Given the description of an element on the screen output the (x, y) to click on. 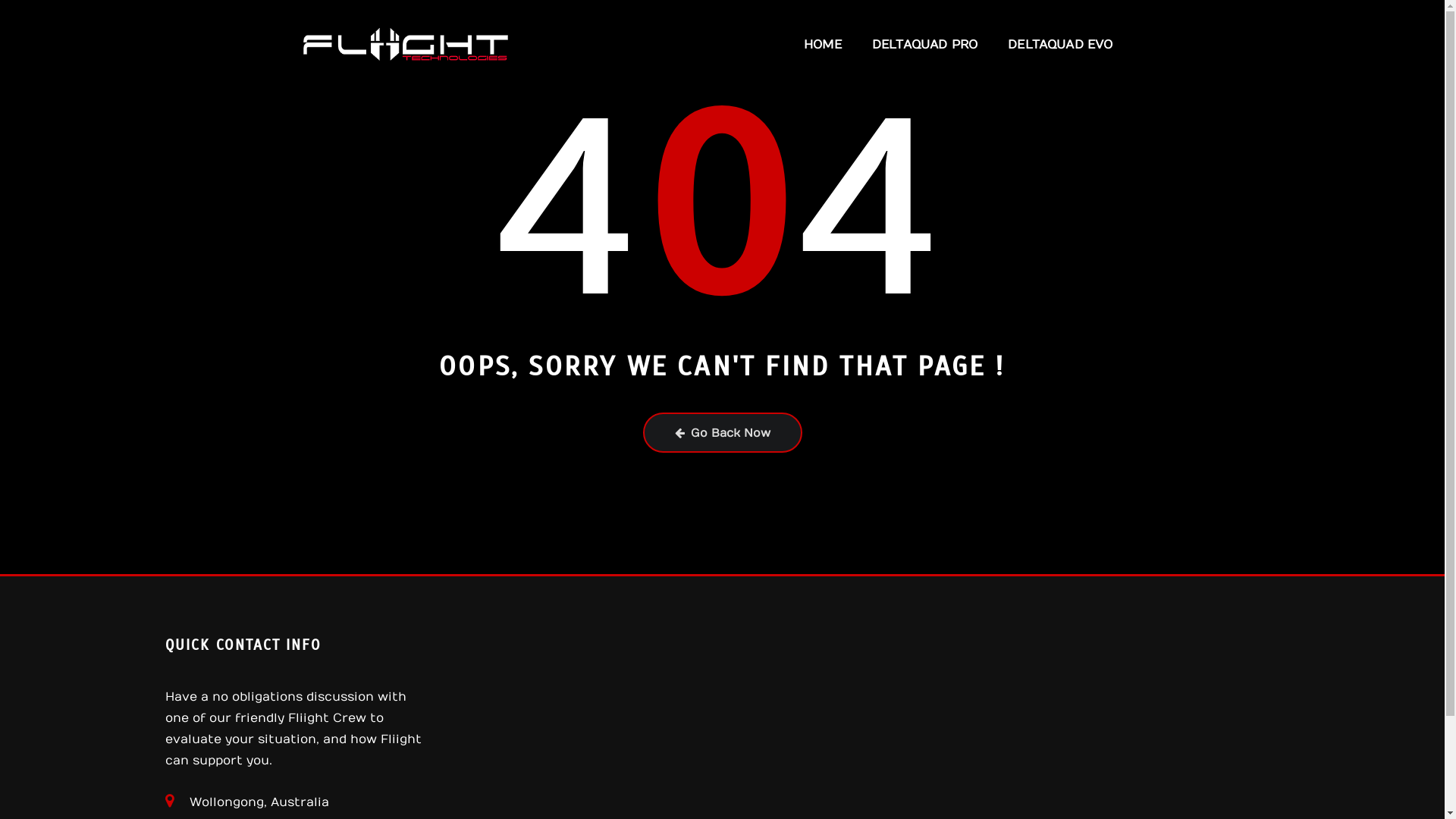
HOME Element type: text (822, 44)
DELTAQUAD EVO Element type: text (1059, 44)
Go Back Now Element type: text (722, 432)
DELTAQUAD PRO Element type: text (924, 44)
